Given the description of an element on the screen output the (x, y) to click on. 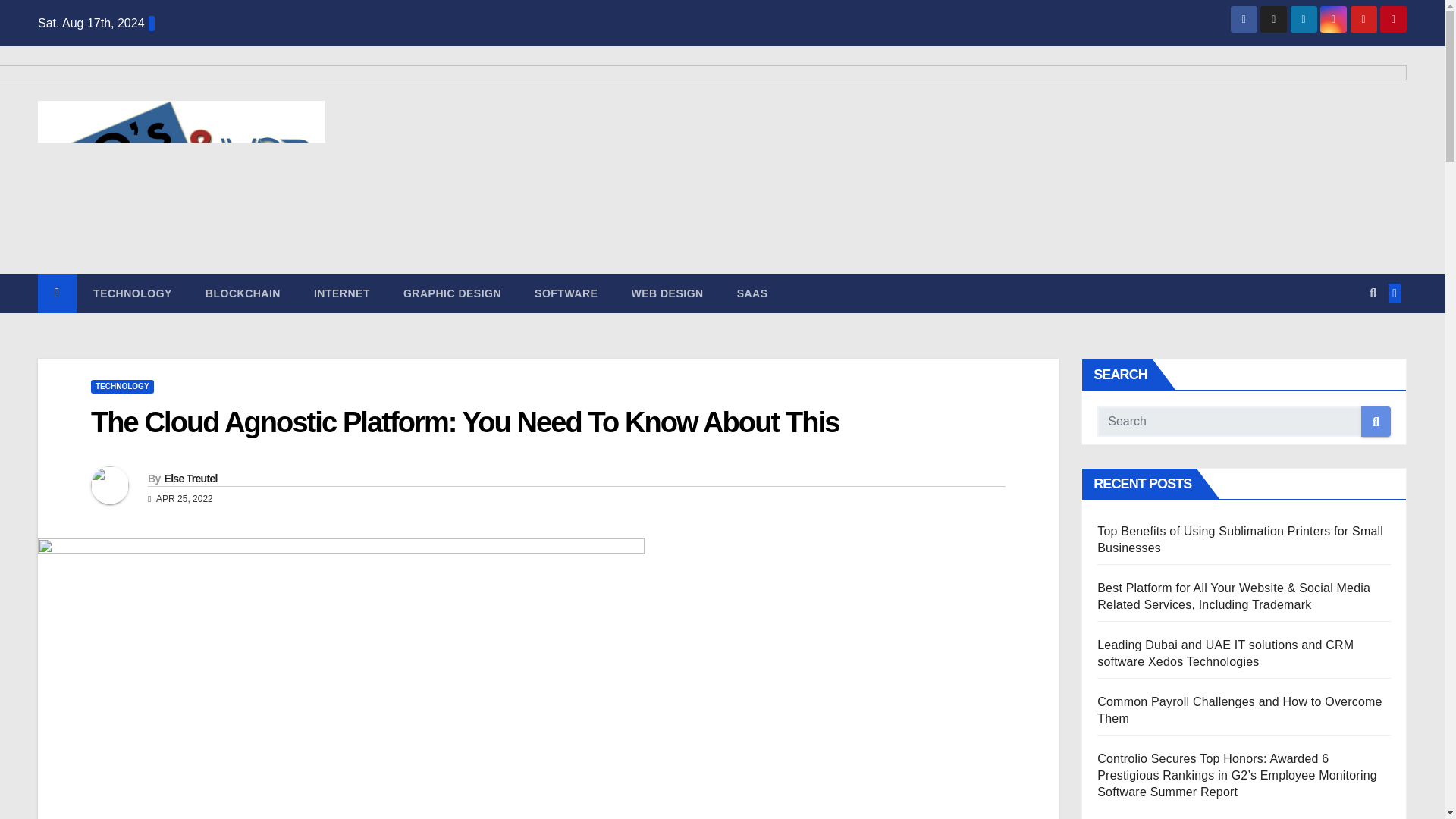
Blockchain (243, 292)
Else Treutel (189, 478)
Web Design (666, 292)
TECHNOLOGY (133, 292)
SaaS (752, 292)
Software (566, 292)
INTERNET (342, 292)
TECHNOLOGY (122, 386)
Graphic Design (452, 292)
